Given the description of an element on the screen output the (x, y) to click on. 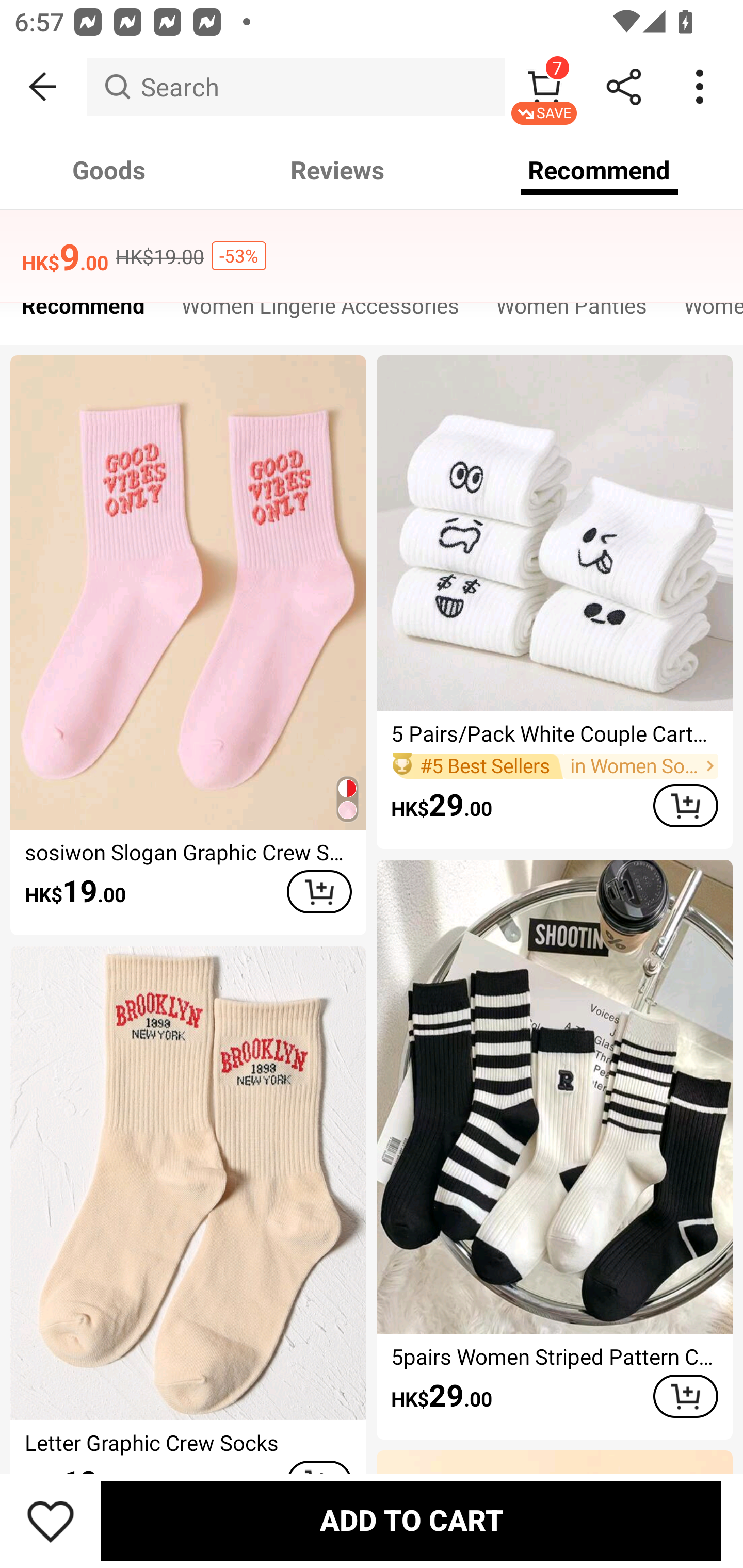
BACK (43, 86)
7 SAVE (543, 87)
Search (295, 87)
Goods (109, 170)
Reviews (337, 170)
Recommend (599, 170)
You May Also Like (371, 244)
Recommend (82, 310)
Women Lingerie Accessories (319, 310)
Women Panties (571, 310)
Women Bras (704, 310)
#5 Best Sellers in Women Socks & Hosiery (554, 765)
ADD TO CART (685, 805)
ADD TO CART (319, 892)
ADD TO CART (685, 1396)
ADD TO CART (411, 1520)
Save (50, 1520)
